Given the description of an element on the screen output the (x, y) to click on. 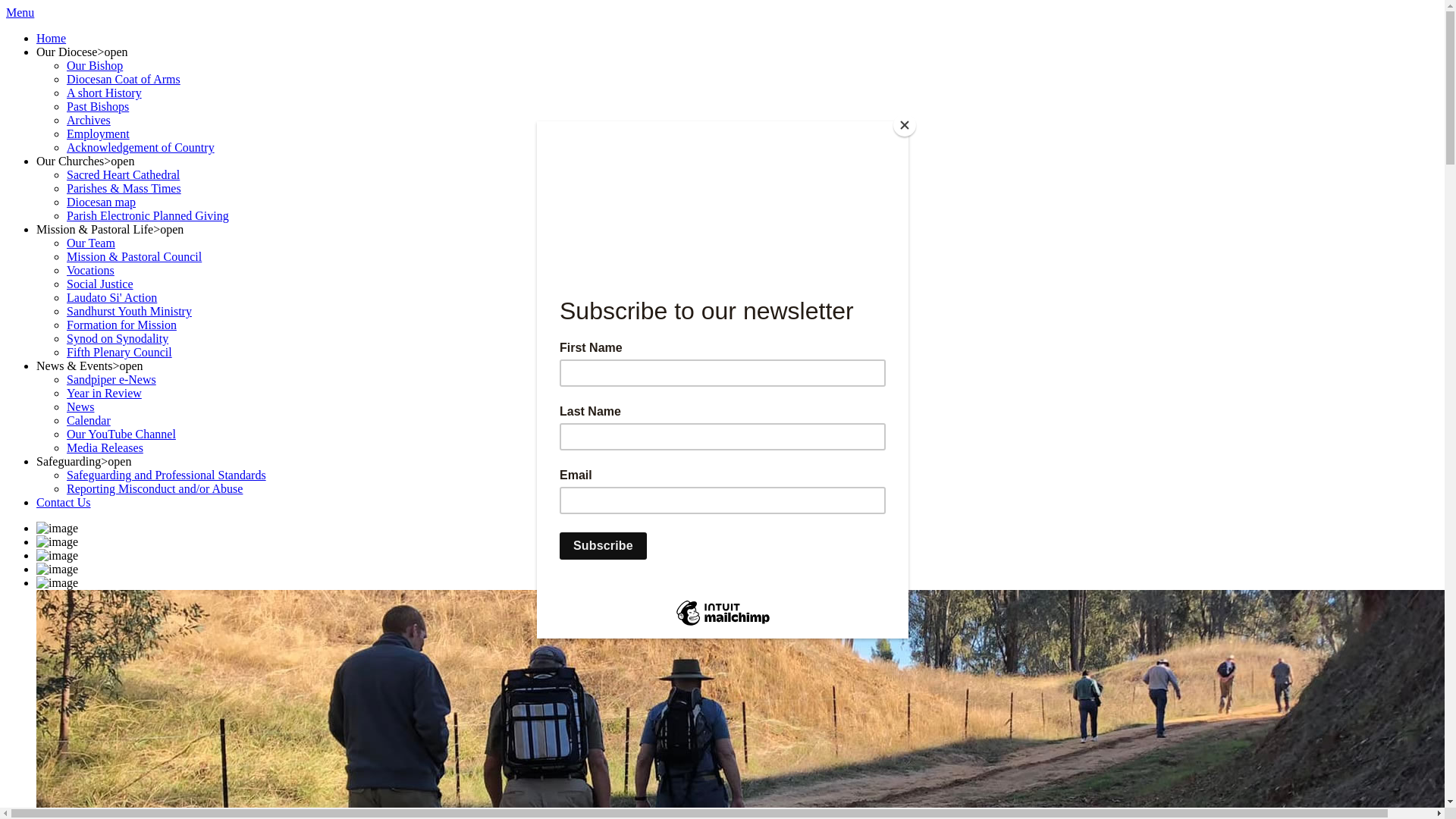
Menu Element type: text (20, 12)
Vocations Element type: text (90, 269)
Our Team Element type: text (90, 242)
image Element type: hover (57, 528)
Parishes & Mass Times Element type: text (123, 188)
News Element type: text (80, 406)
Diocesan Coat of Arms Element type: text (123, 78)
Sandpiper e-News Element type: text (111, 379)
Mission & Pastoral Council Element type: text (133, 256)
image Element type: hover (57, 555)
Safeguarding and Professional Standards Element type: text (166, 474)
Our YouTube Channel Element type: text (120, 433)
Home Element type: text (50, 37)
Sandhurst Youth Ministry Element type: text (128, 310)
Formation for Mission Element type: text (121, 324)
Diocesan map Element type: text (100, 201)
image Element type: hover (57, 569)
A short History Element type: text (103, 92)
Contact Us Element type: text (63, 501)
Reporting Misconduct and/or Abuse Element type: text (154, 488)
Employment Element type: text (97, 133)
image Element type: hover (57, 542)
Calendar Element type: text (88, 420)
Acknowledgement of Country Element type: text (140, 147)
Year in Review Element type: text (103, 392)
Social Justice Element type: text (99, 283)
Our Bishop Element type: text (94, 65)
Parish Electronic Planned Giving Element type: text (147, 215)
Laudato Si' Action Element type: text (111, 297)
Media Releases Element type: text (104, 447)
image Element type: hover (57, 582)
Sacred Heart Cathedral Element type: text (122, 174)
Archives Element type: text (88, 119)
Synod on Synodality Element type: text (117, 338)
Past Bishops Element type: text (97, 106)
Fifth Plenary Council Element type: text (119, 351)
